Given the description of an element on the screen output the (x, y) to click on. 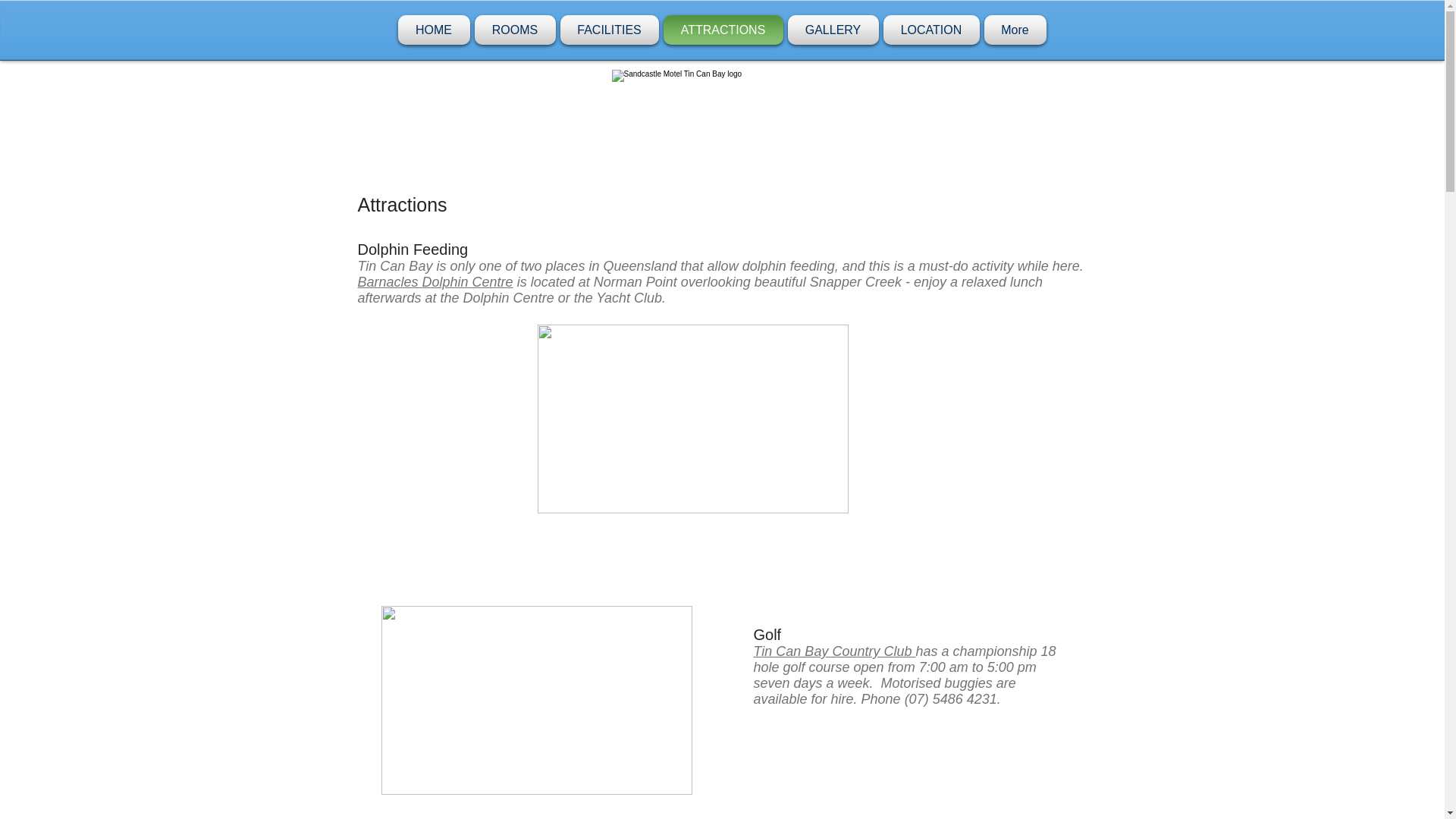
ROOMS (514, 30)
GALLERY (833, 30)
Barnacles Dolphin Centre (435, 281)
ATTRACTIONS (723, 30)
HOME (434, 30)
Tin Can Bay Country Club (834, 651)
LOCATION (930, 30)
FACILITIES (609, 30)
